Given the description of an element on the screen output the (x, y) to click on. 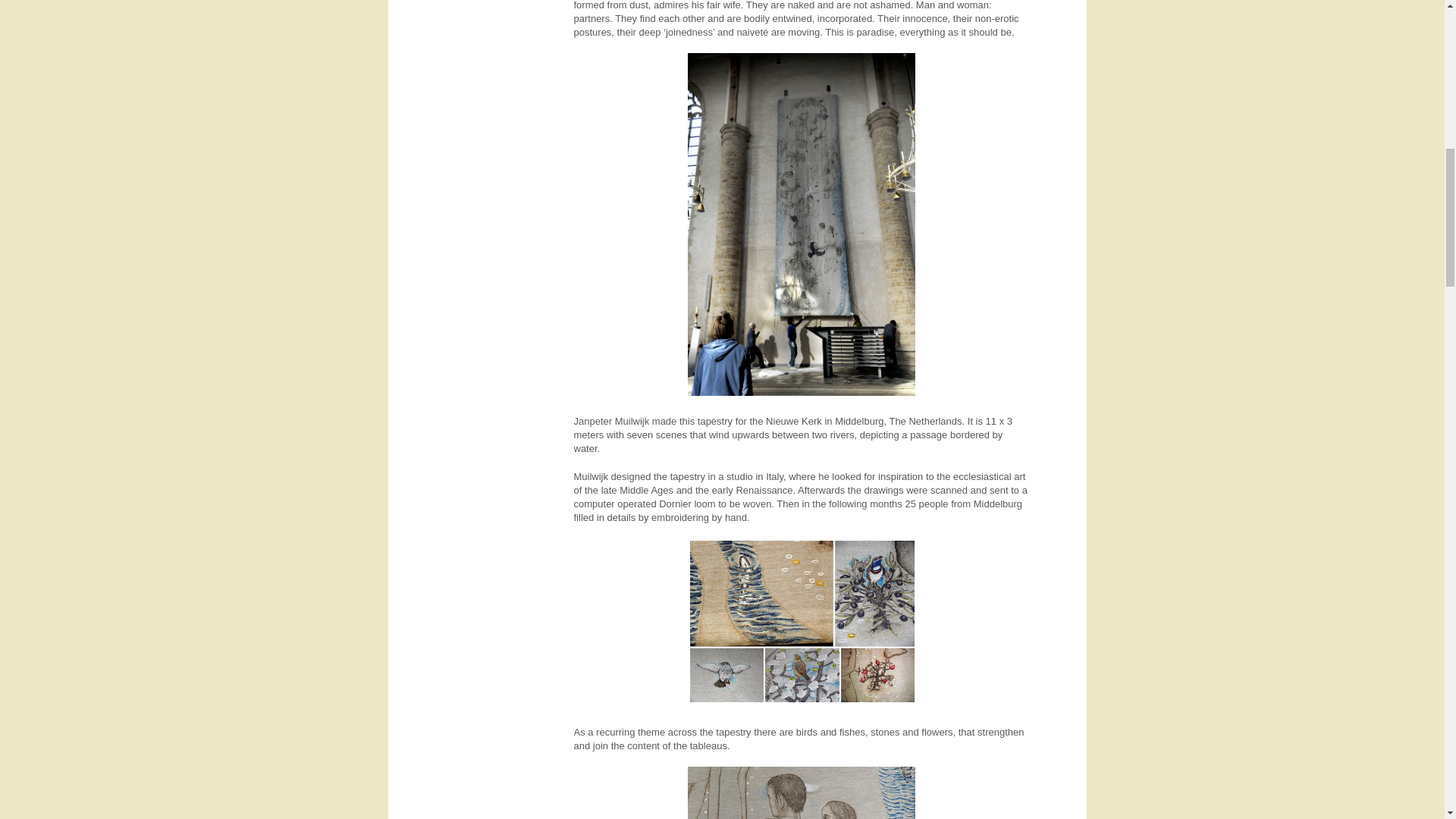
Click on image to view the original size (801, 623)
Click on image to view the original size (800, 792)
